Given the description of an element on the screen output the (x, y) to click on. 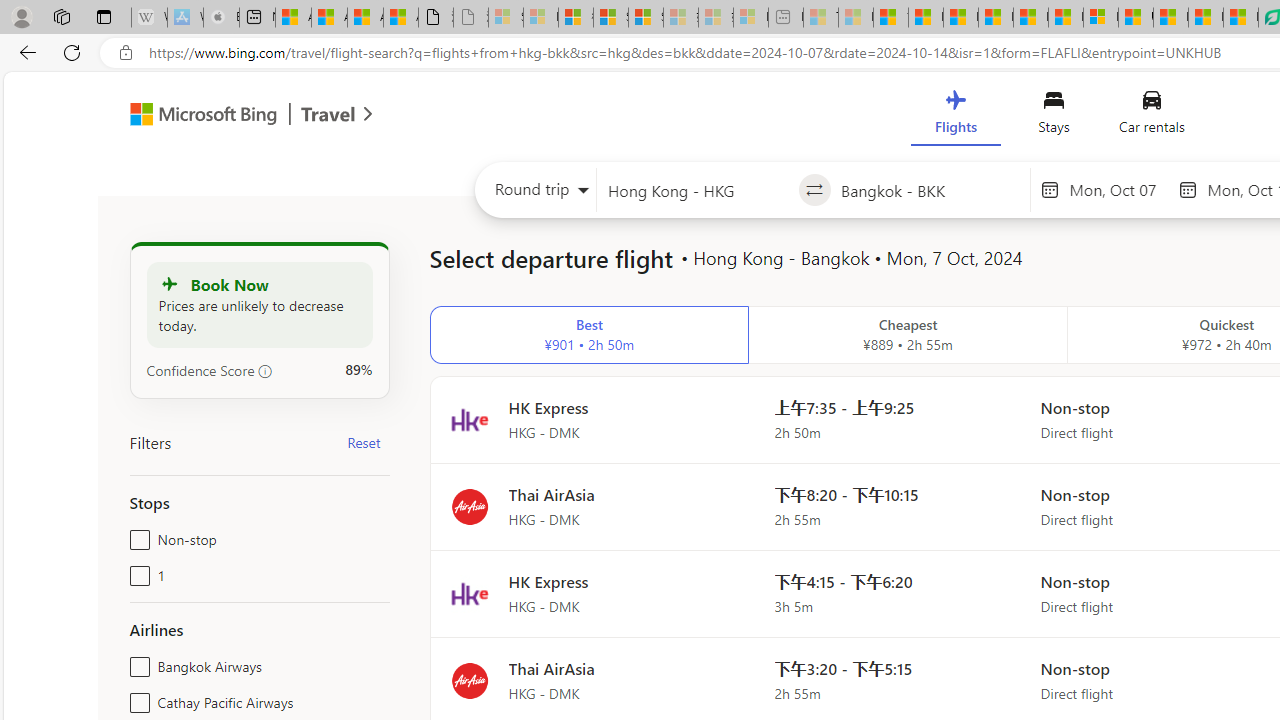
Top Stories - MSN - Sleeping (820, 17)
Aberdeen, Hong Kong SAR severe weather | Microsoft Weather (401, 17)
Drinking tea every day is proven to delay biological aging (995, 17)
Car rentals (1150, 116)
1 (136, 571)
Bangkok Airways (136, 662)
Microsoft account | Account Checkup - Sleeping (750, 17)
Microsoft Services Agreement - Sleeping (540, 17)
Travel (328, 116)
